Given the description of an element on the screen output the (x, y) to click on. 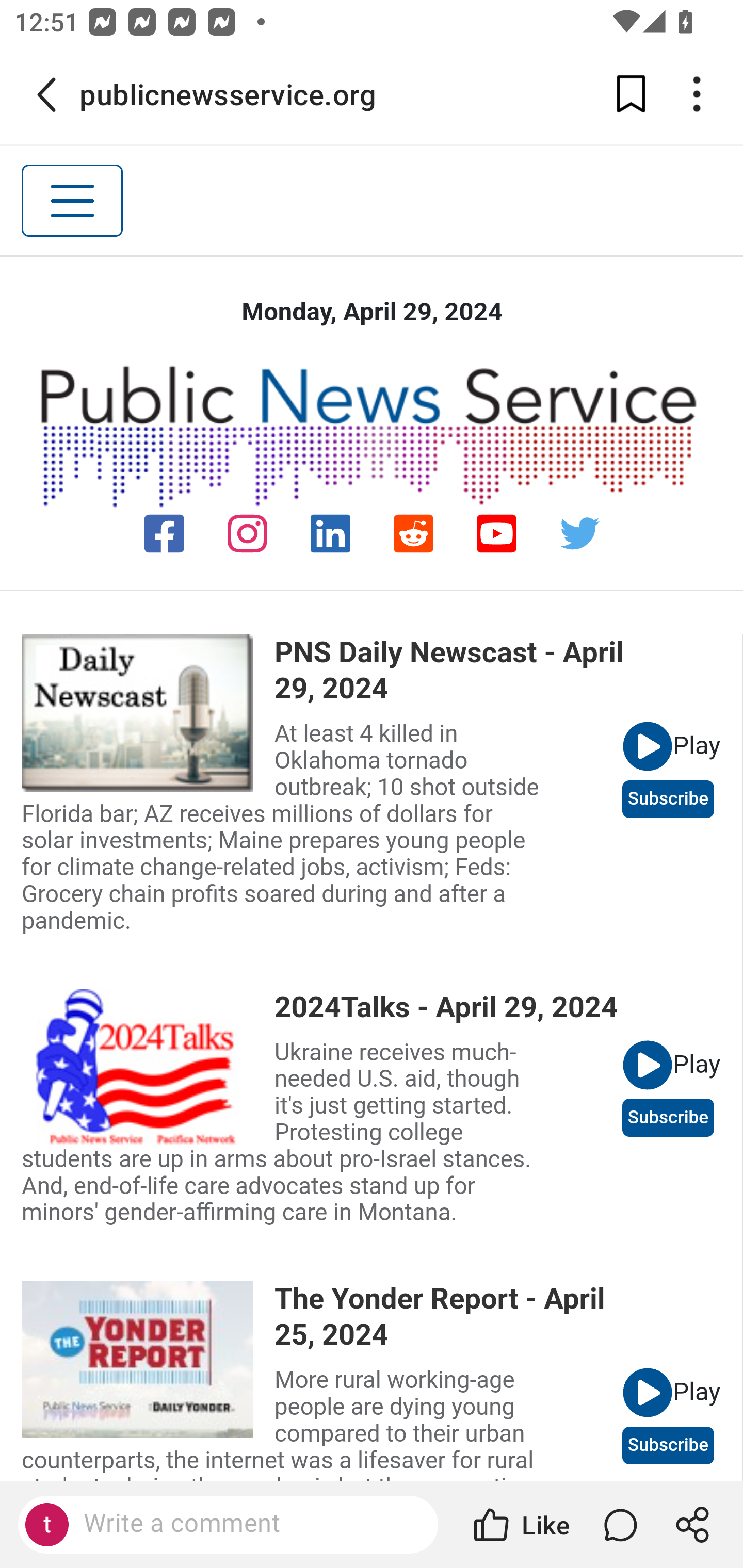
Like (519, 1524)
Write a comment (227, 1524)
Write a comment (245, 1523)
